Given the description of an element on the screen output the (x, y) to click on. 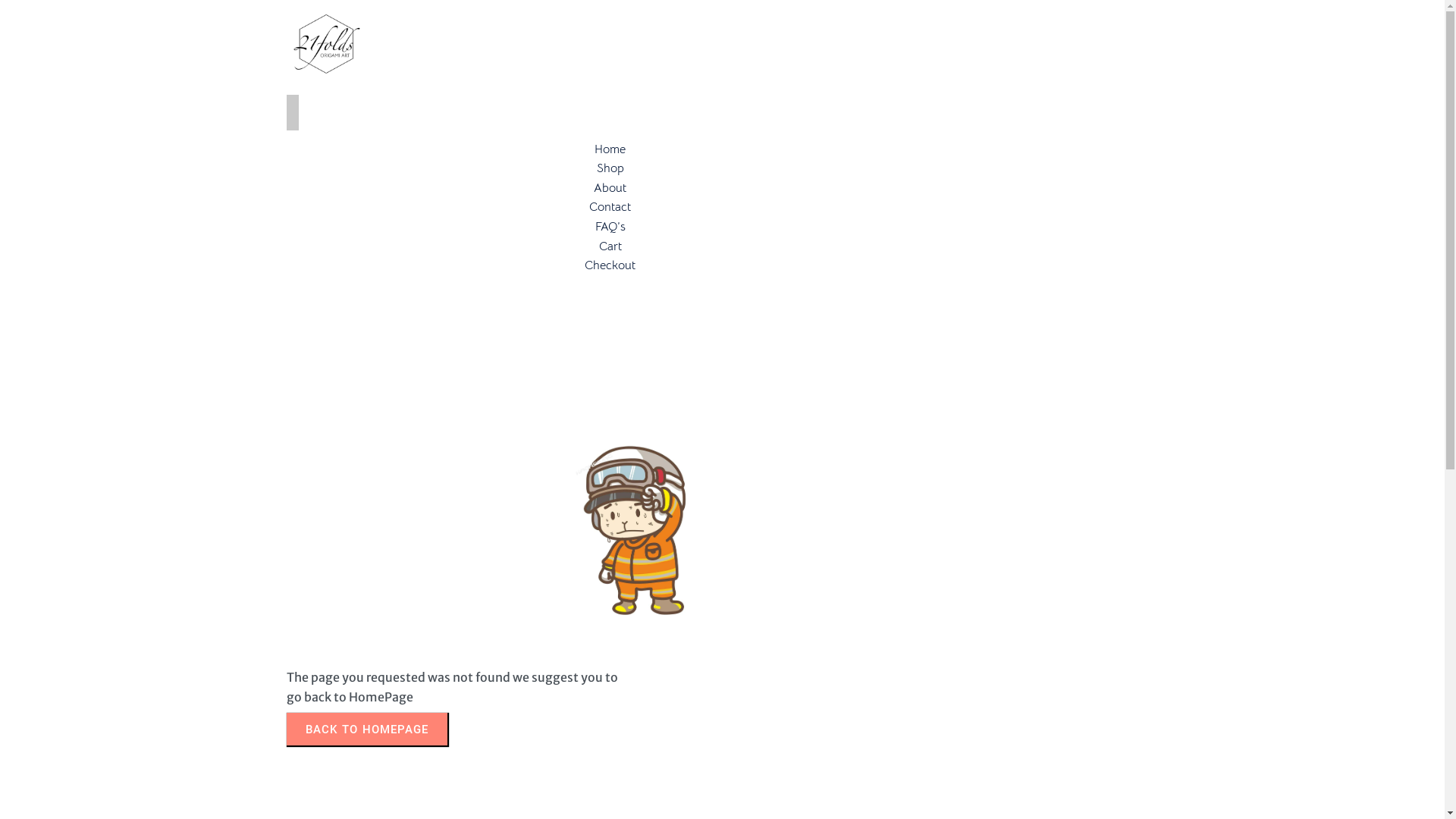
Checkout Element type: text (609, 265)
BACK TO HOMEPAGE Element type: text (366, 728)
Contact Element type: text (609, 206)
Cart Element type: text (610, 245)
About Element type: text (610, 187)
21folds-logo-ne_57962707 (1) Element type: hover (326, 44)
Home Element type: text (609, 149)
Shop Element type: text (610, 168)
